Given the description of an element on the screen output the (x, y) to click on. 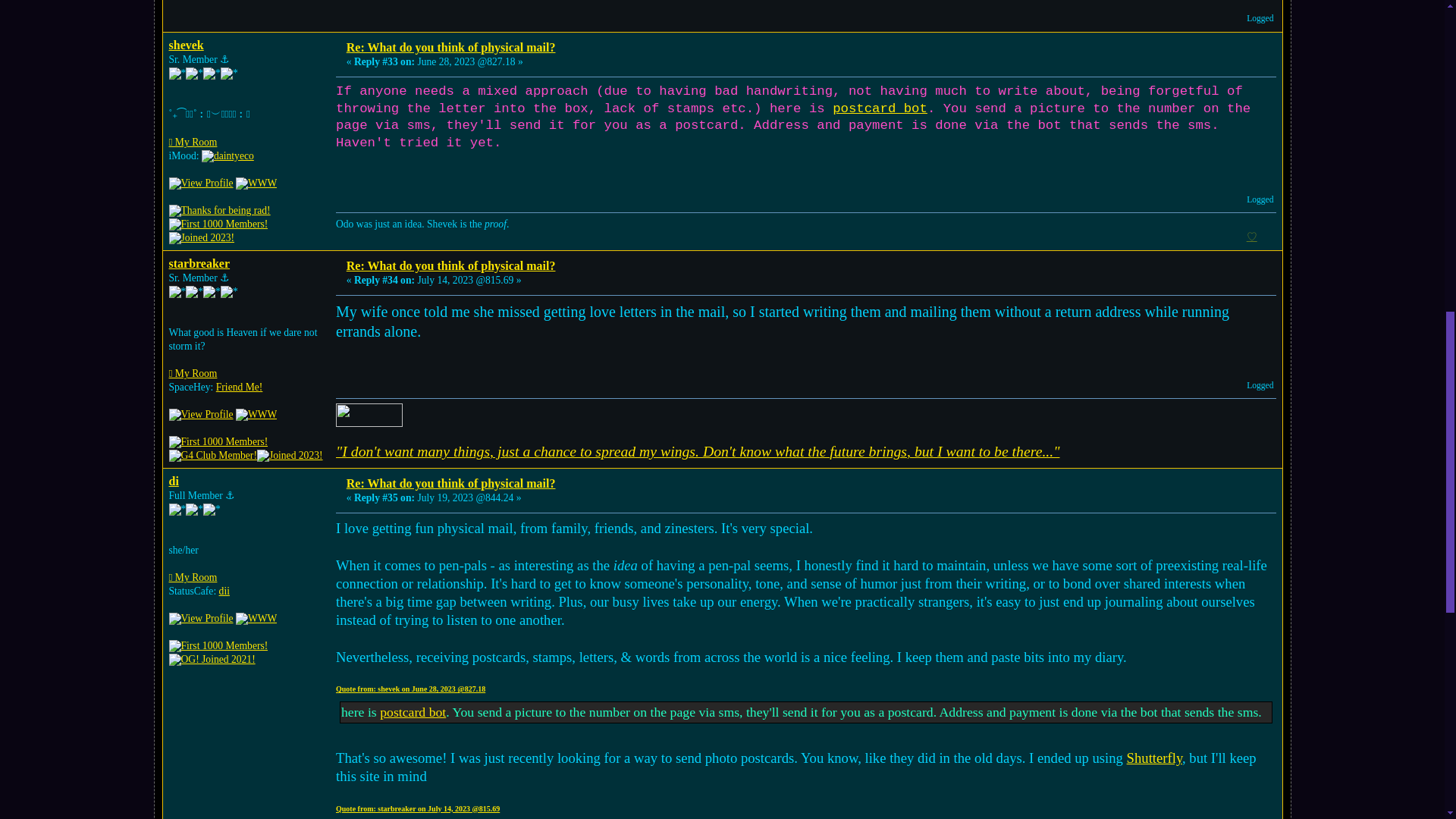
my space (256, 183)
View the profile of shevek (185, 44)
View Profile (200, 183)
